Given the description of an element on the screen output the (x, y) to click on. 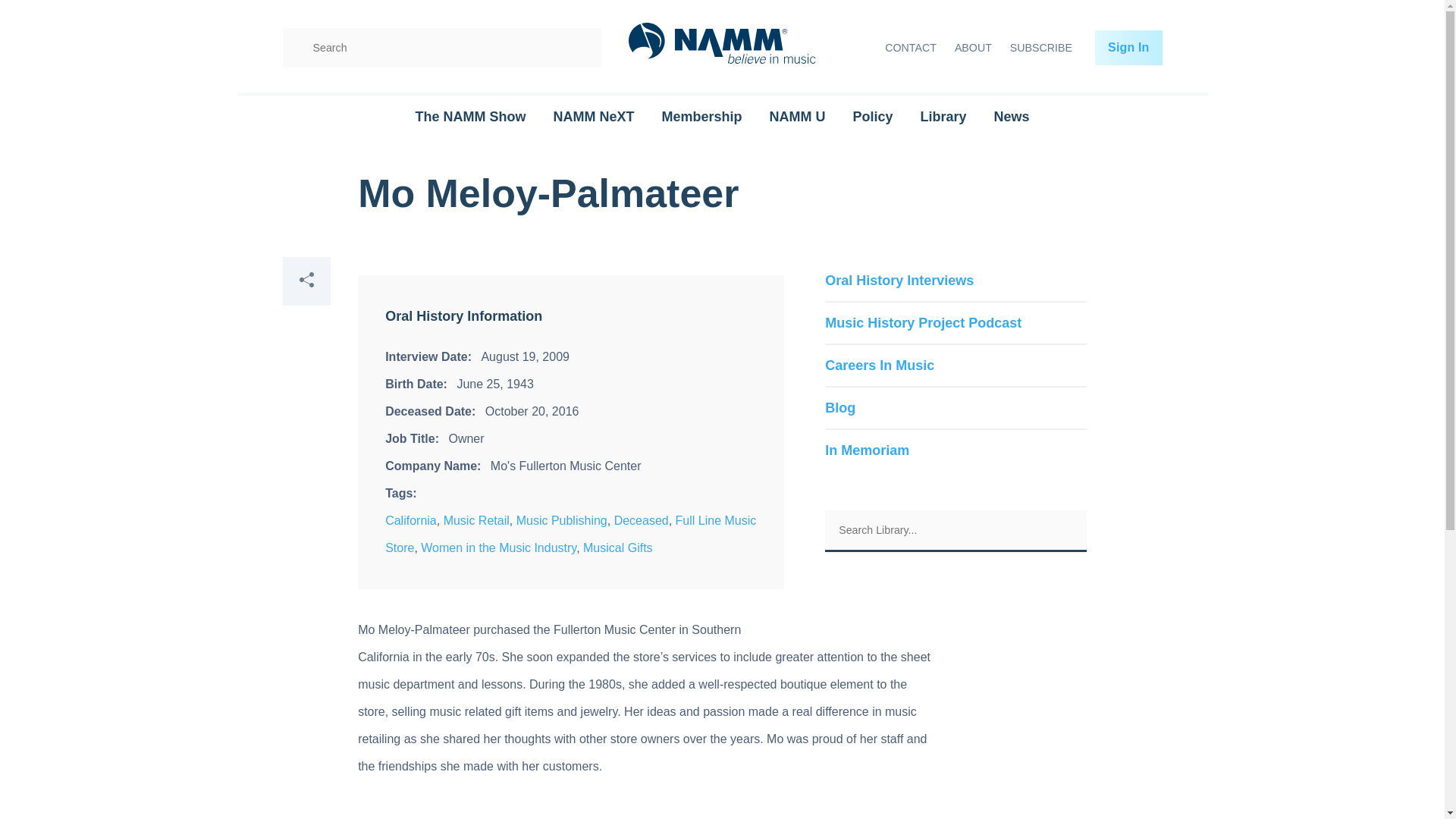
NAMM U (796, 116)
Library (943, 116)
SUBSCRIBE (1041, 47)
NAMM Home (721, 47)
News (1011, 116)
Sign In (1127, 47)
Apply (579, 47)
CONTACT (910, 47)
News (1011, 116)
